Given the description of an element on the screen output the (x, y) to click on. 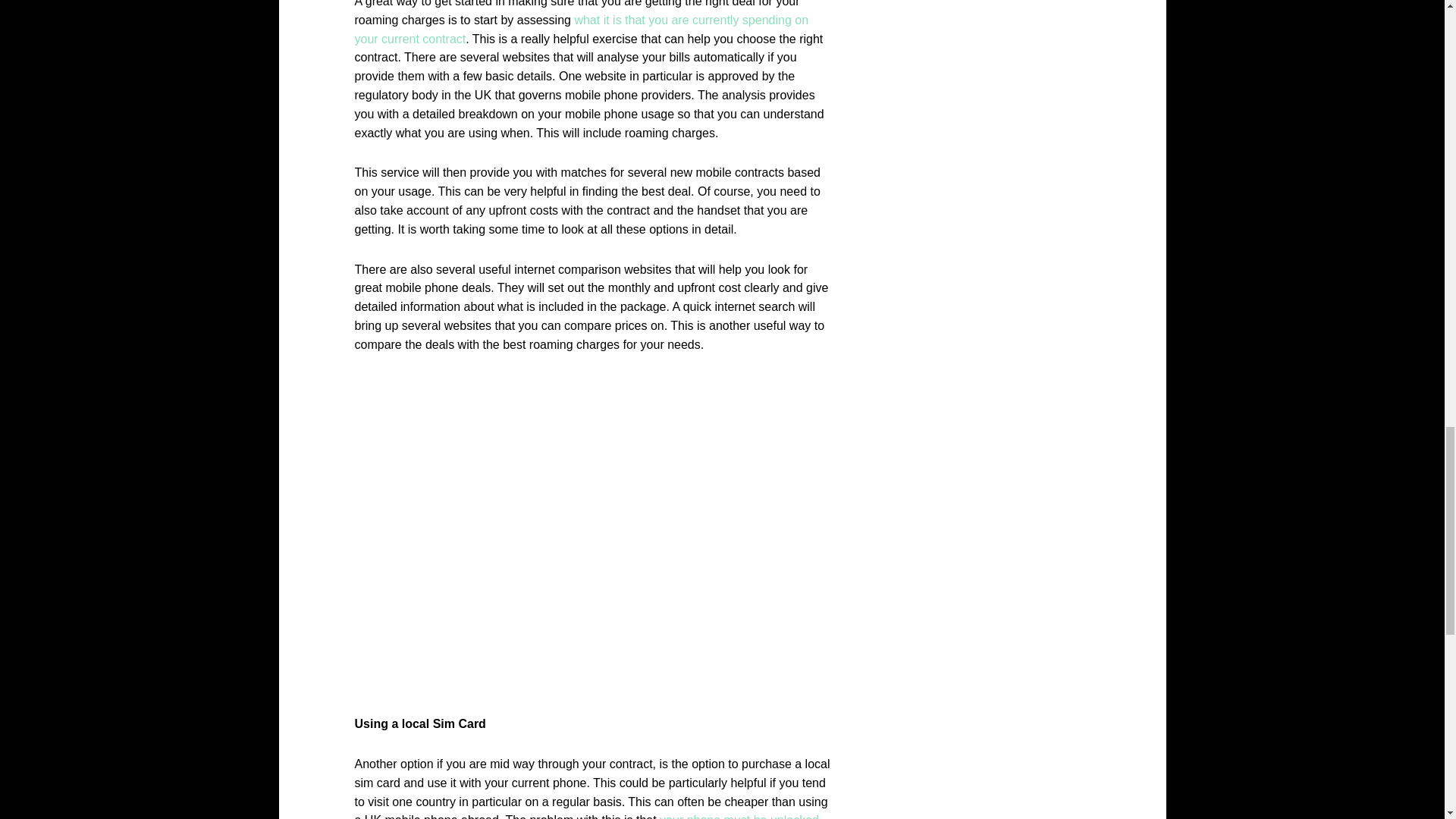
your phone must be unlocked (738, 816)
